Given the description of an element on the screen output the (x, y) to click on. 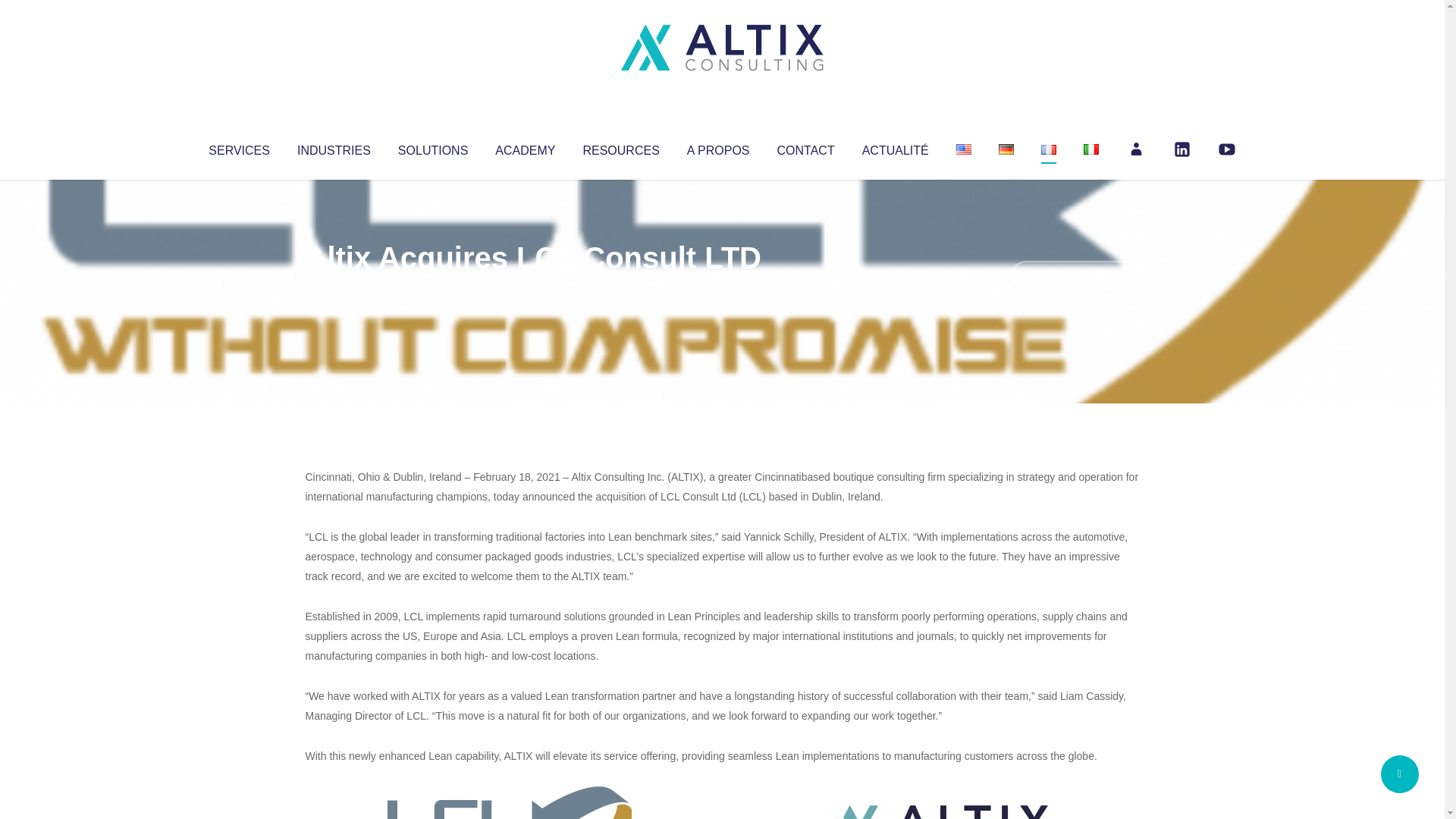
SERVICES (238, 146)
Altix (333, 287)
INDUSTRIES (334, 146)
No Comments (1073, 278)
Uncategorized (530, 287)
SOLUTIONS (432, 146)
Articles par Altix (333, 287)
ACADEMY (524, 146)
RESOURCES (620, 146)
A PROPOS (718, 146)
